Given the description of an element on the screen output the (x, y) to click on. 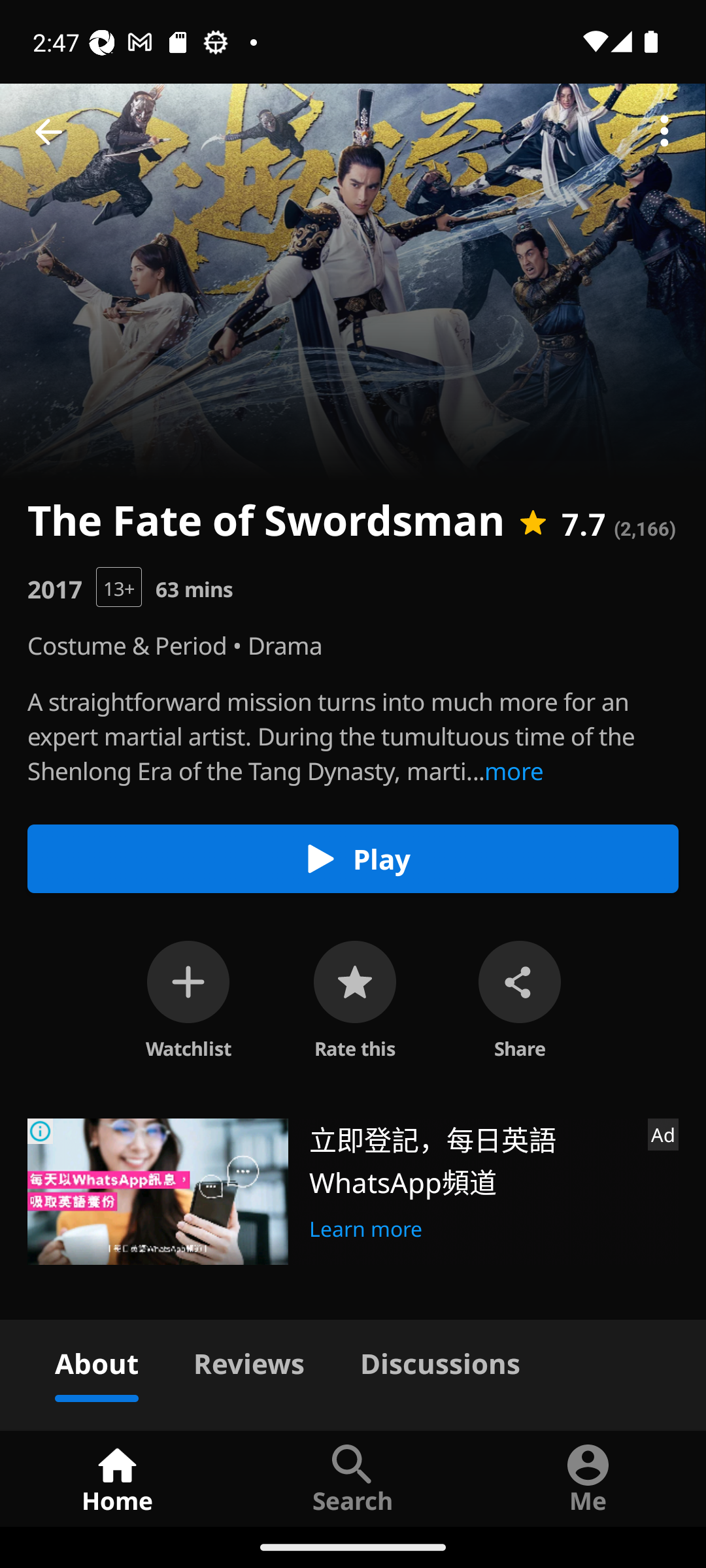
More (664, 131)
off (187, 981)
立即登記，每日英語WhatsApp頻道 Ad Learn more Ad Choices Icon (352, 1191)
Ad Choices Icon (39, 1130)
立即登記，每日英語WhatsApp頻道 (471, 1159)
Learn more (365, 1225)
Reviews (248, 1360)
Discussions (439, 1360)
Search (352, 1478)
Me (588, 1478)
